Given the description of an element on the screen output the (x, y) to click on. 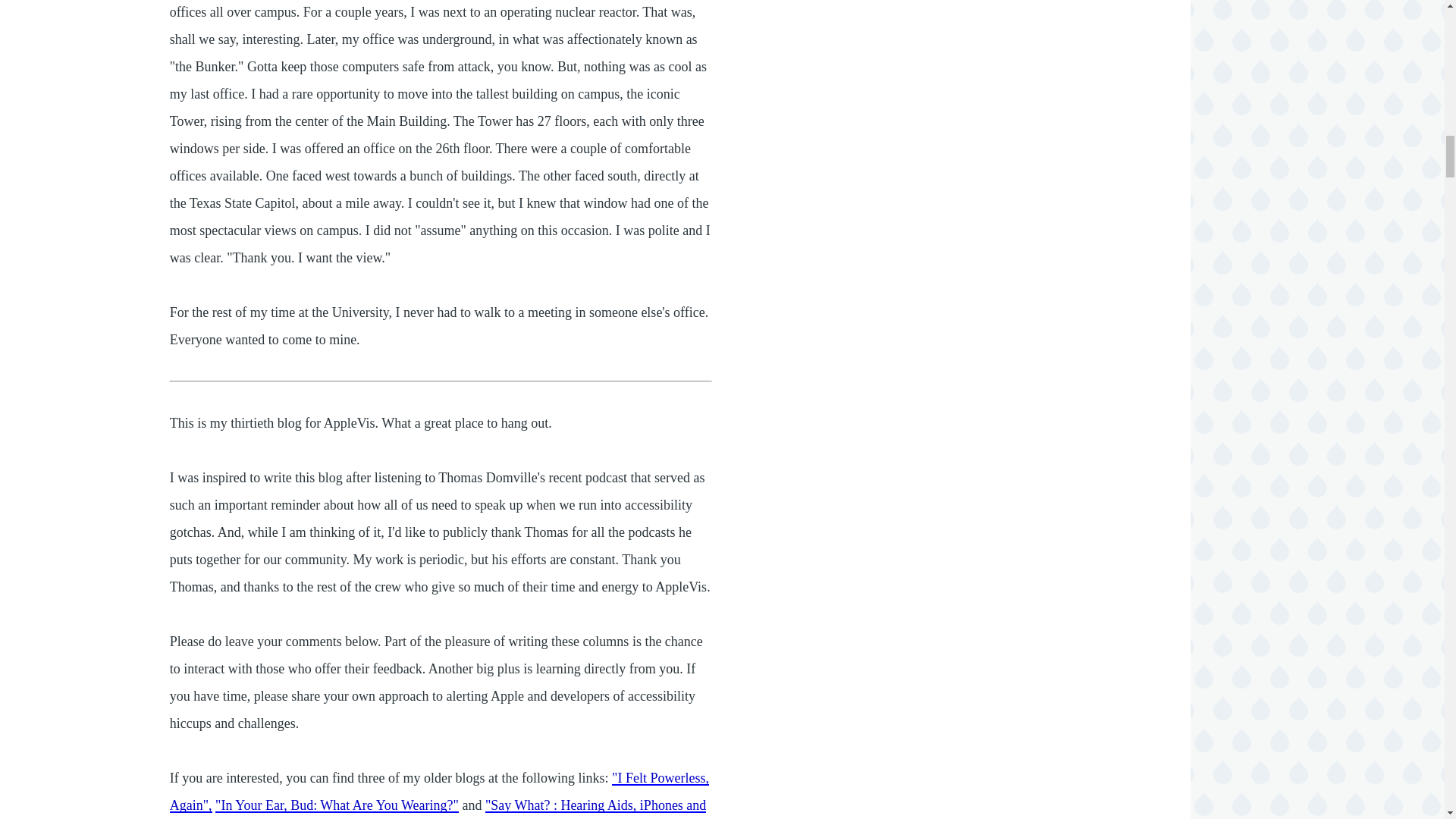
"Say What? : Hearing Aids, iPhones and My Apple Watch". (438, 808)
"In Your Ear, Bud: What Are You Wearing?" (336, 805)
"I Felt Powerless, Again", (439, 791)
